Given the description of an element on the screen output the (x, y) to click on. 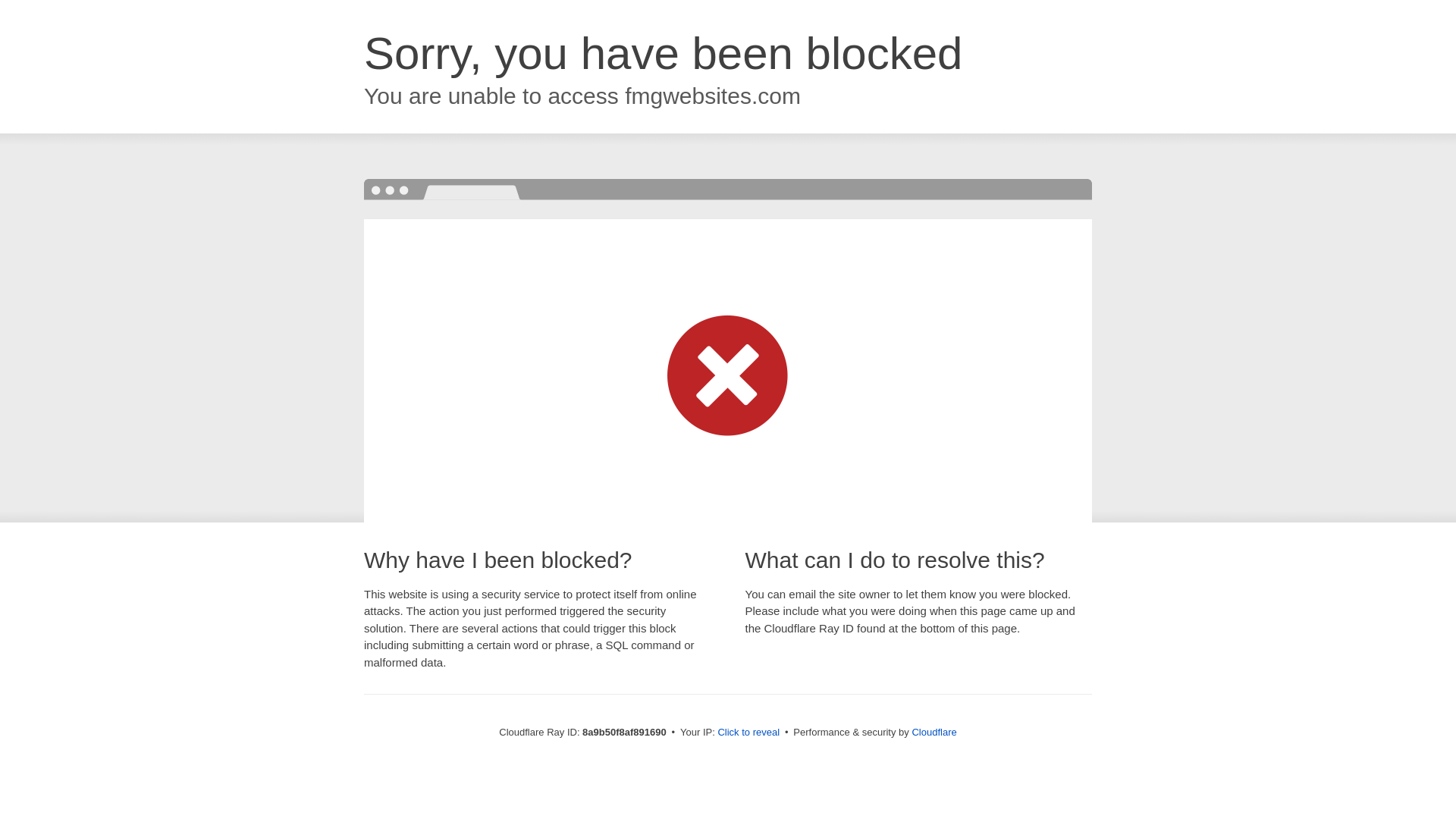
Click to reveal (747, 732)
Cloudflare (933, 731)
